Given the description of an element on the screen output the (x, y) to click on. 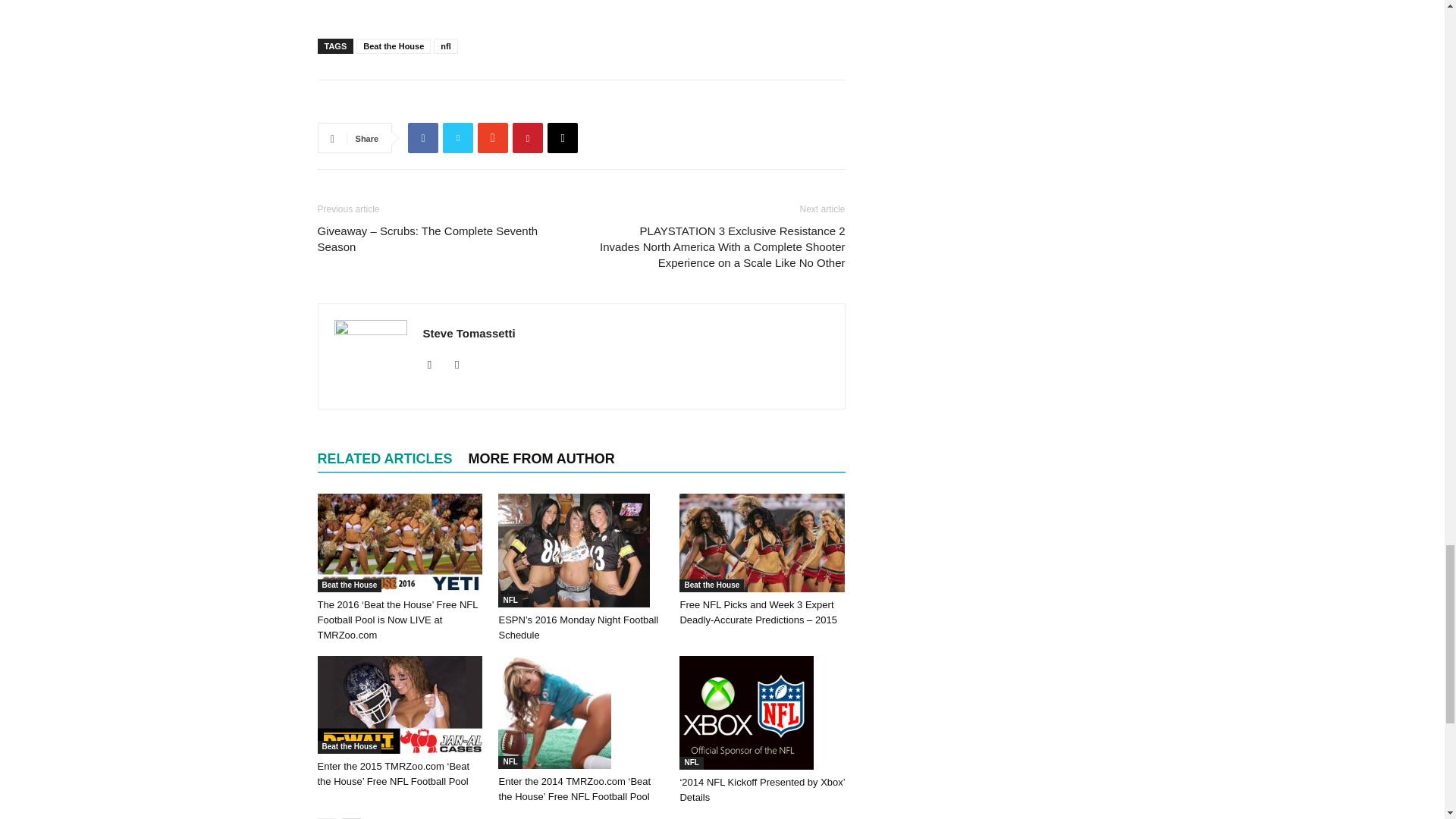
Twitter (462, 364)
